Given the description of an element on the screen output the (x, y) to click on. 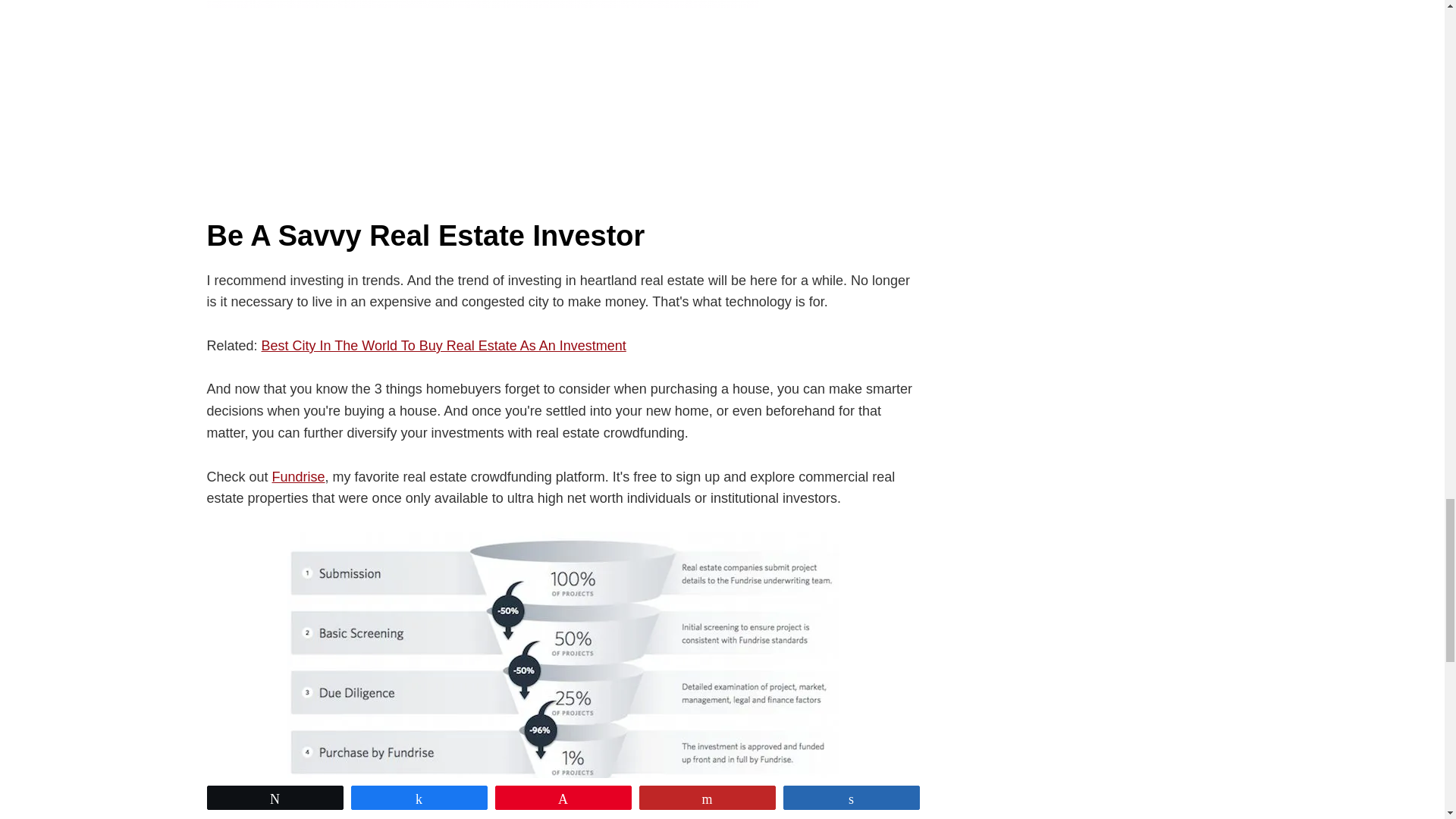
Fundrise (298, 476)
Best City In The World To Buy Real Estate As An Investment (444, 345)
